Given the description of an element on the screen output the (x, y) to click on. 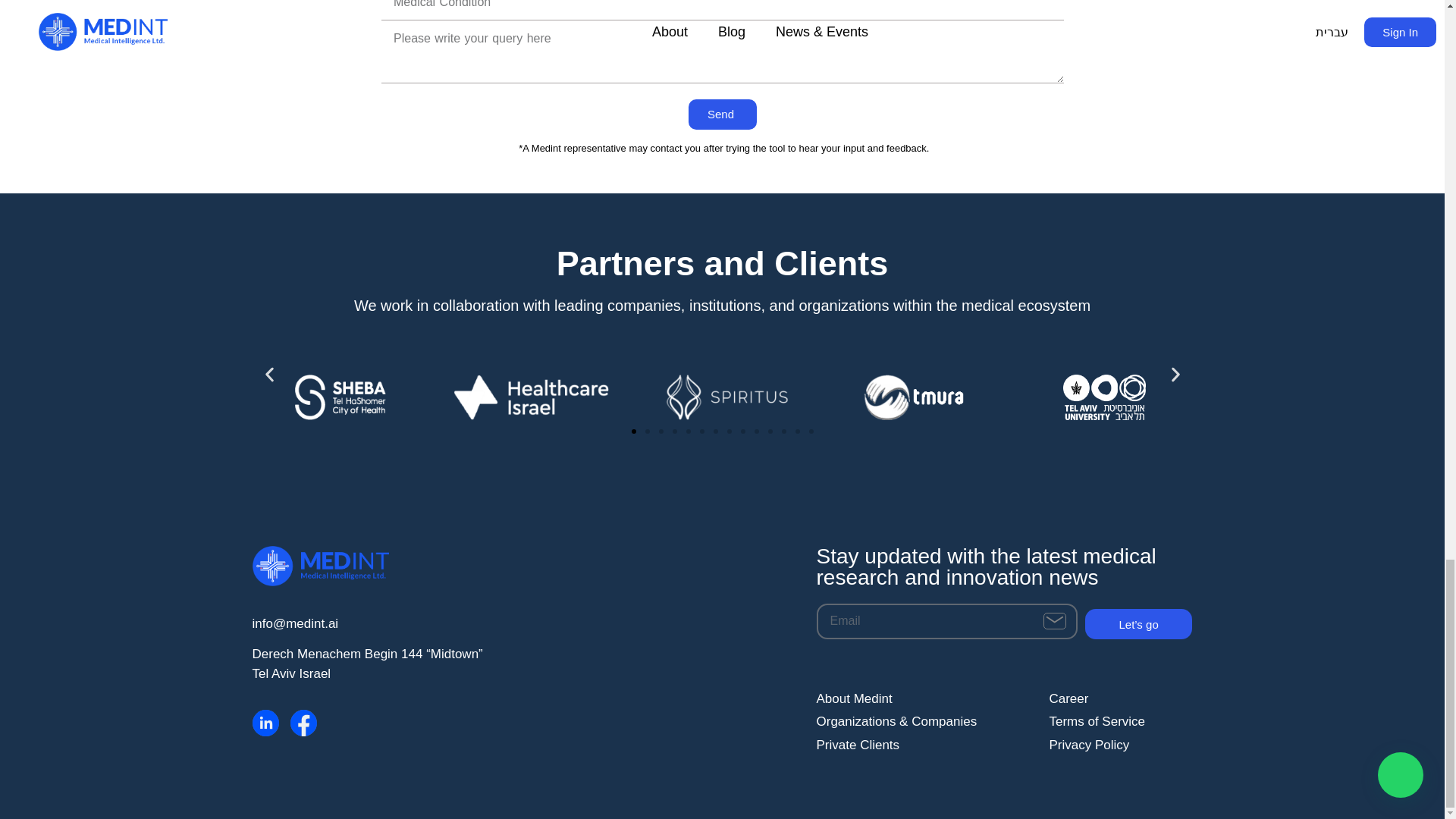
Privacy Policy (1123, 745)
About Medint (897, 699)
Send (721, 114)
Career (1123, 699)
Private Clients (897, 745)
Terms of Service (1123, 721)
